Given the description of an element on the screen output the (x, y) to click on. 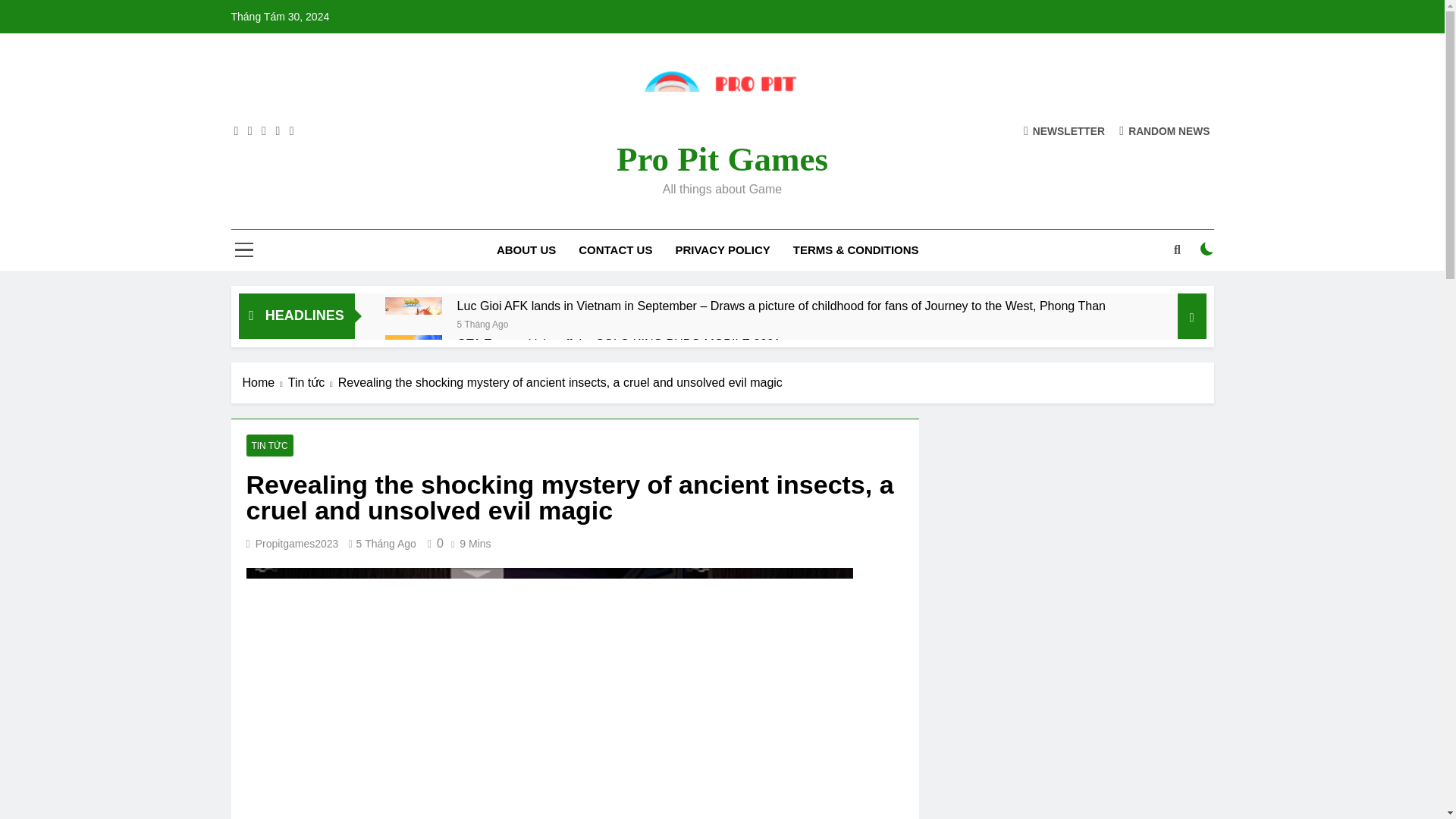
on (1206, 248)
RANDOM NEWS (1164, 130)
ABOUT US (525, 250)
CONTACT US (615, 250)
NEWSLETTER (1064, 130)
PRIVACY POLICY (721, 250)
Pro Pit Games (721, 159)
